Given the description of an element on the screen output the (x, y) to click on. 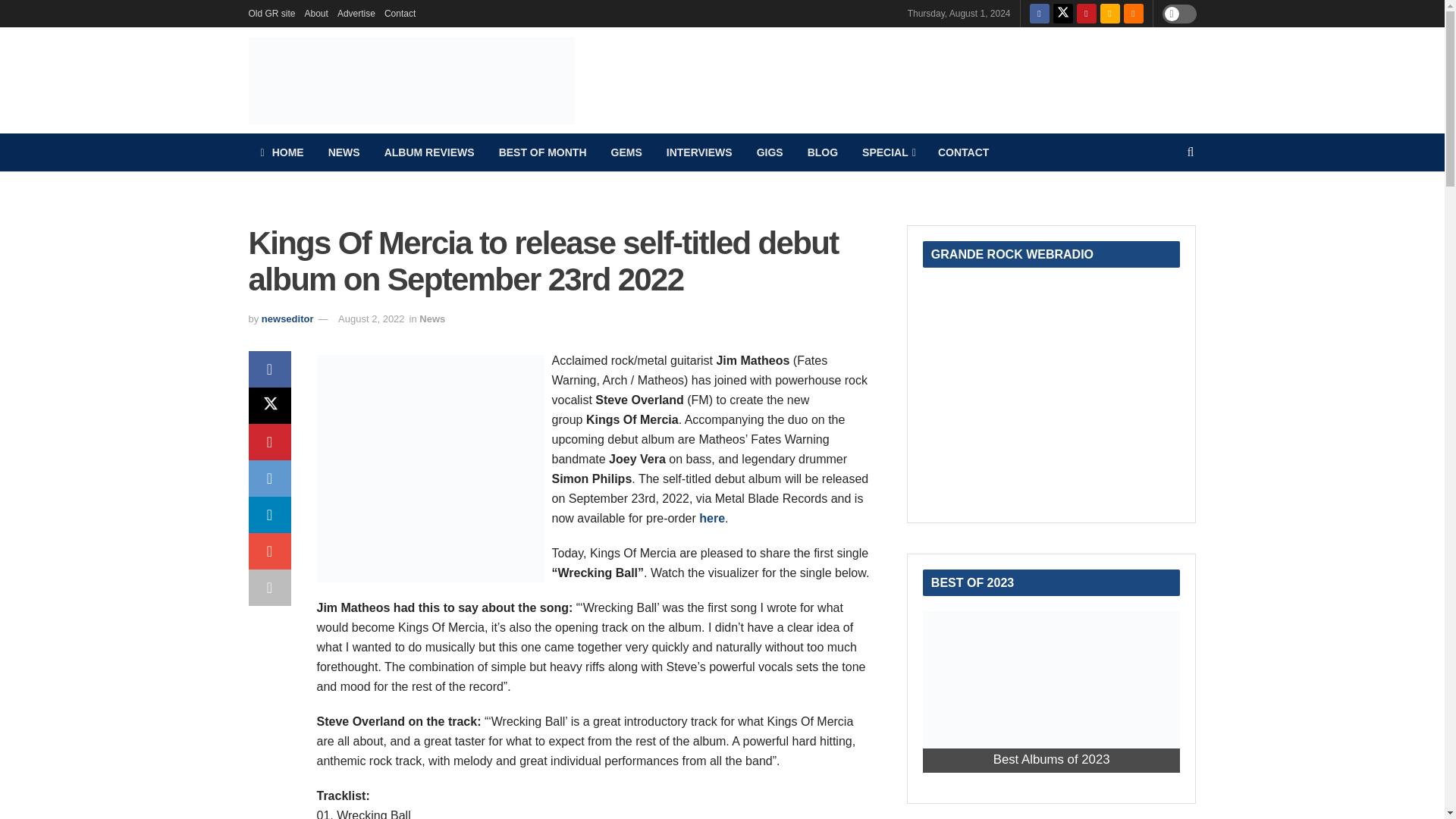
Old GR site (271, 13)
Advertise (356, 13)
CONTACT (963, 152)
Contact (399, 13)
GEMS (625, 152)
INTERVIEWS (698, 152)
GIGS (769, 152)
HOME (281, 152)
NEWS (343, 152)
BEST OF MONTH (542, 152)
ALBUM REVIEWS (429, 152)
SPECIAL (888, 152)
BLOG (822, 152)
